Given the description of an element on the screen output the (x, y) to click on. 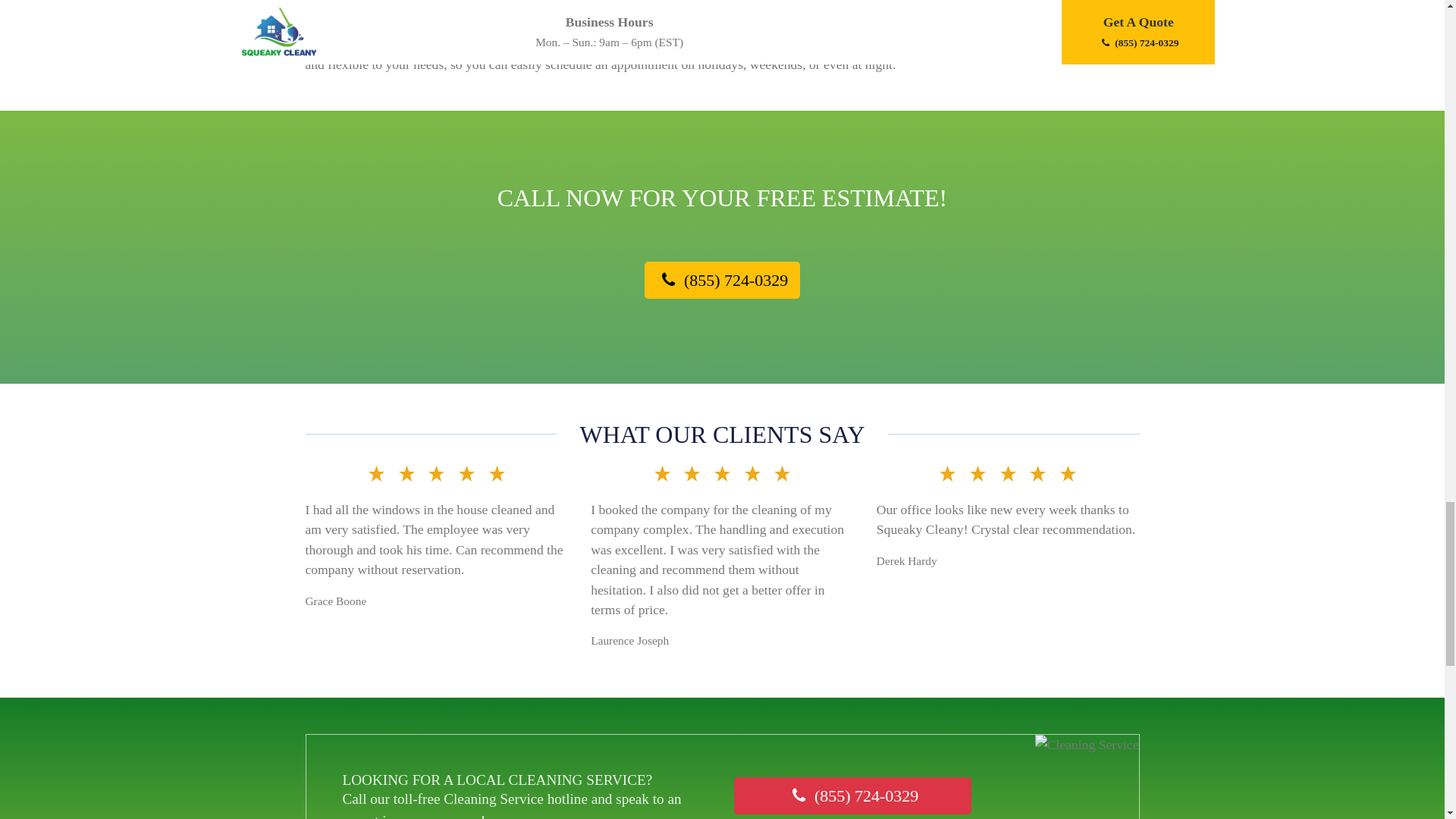
Call a Cleaning Company (852, 795)
